Given the description of an element on the screen output the (x, y) to click on. 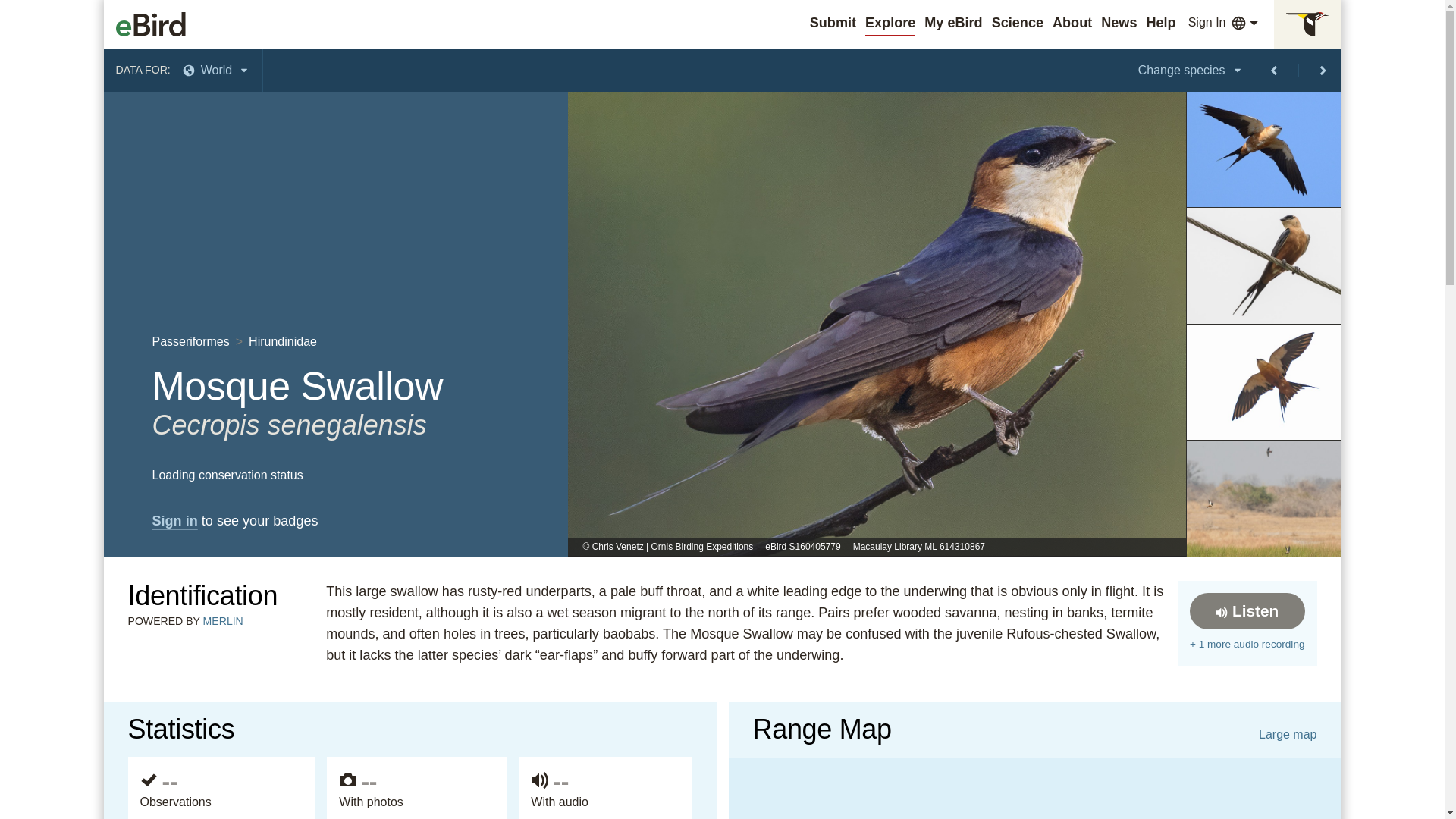
Change species (1190, 70)
About (1072, 23)
Help (1159, 23)
Explore (889, 23)
My eBird (952, 23)
World (216, 70)
Macaulay Library ML 614310867 (919, 547)
eBird S160405779 (802, 547)
Sign In (1206, 23)
News (1118, 23)
